Given the description of an element on the screen output the (x, y) to click on. 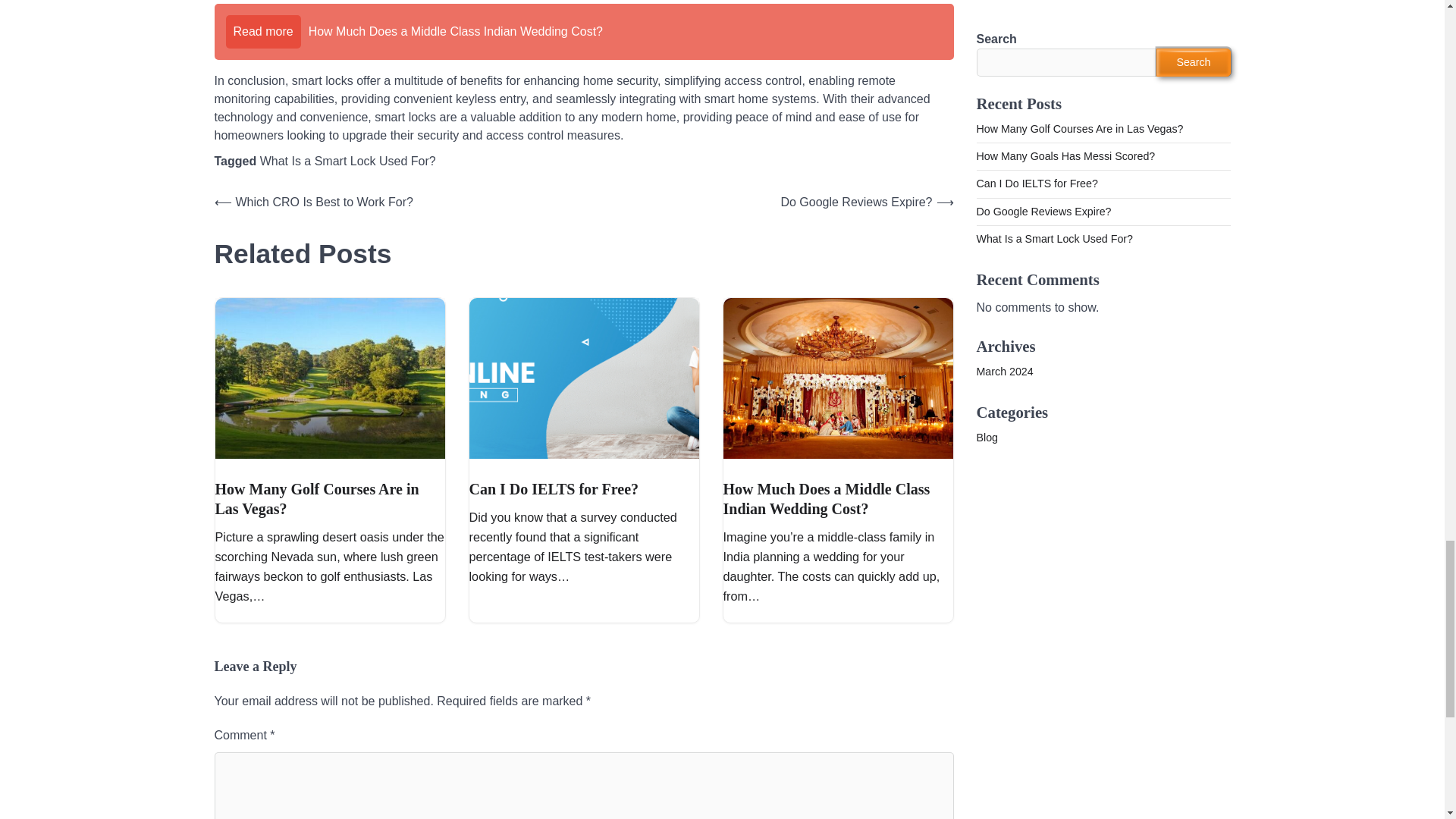
How Much Does a Middle Class Indian Wedding Cost? (826, 498)
Can I Do IELTS for Free? (553, 488)
How Many Golf Courses Are in Las Vegas? (317, 498)
What Is a Smart Lock Used For? (347, 160)
Read moreHow Much Does a Middle Class Indian Wedding Cost? (583, 31)
